Given the description of an element on the screen output the (x, y) to click on. 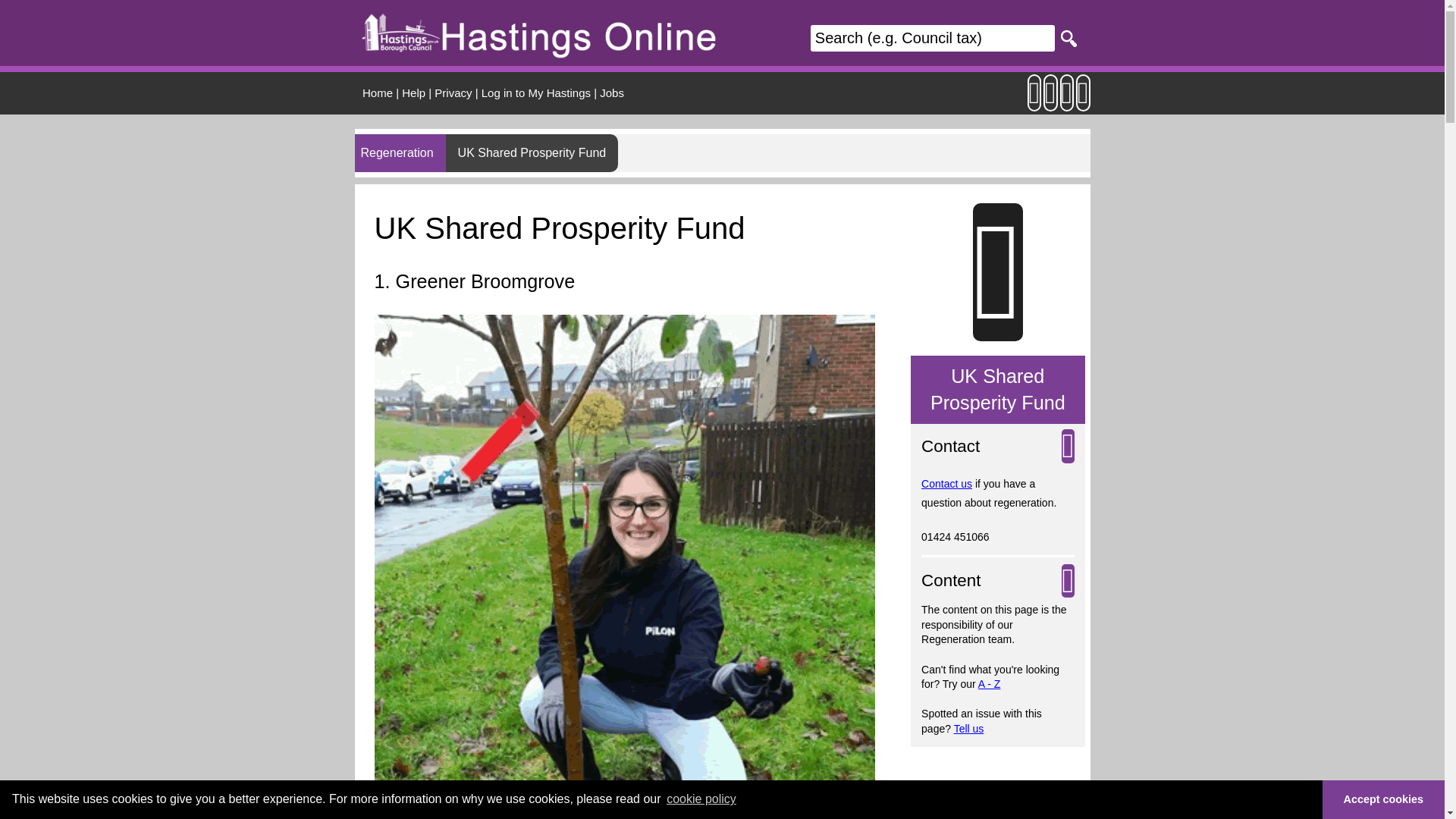
Help using Hastings Online (413, 92)
link to Newsletter (1034, 100)
Hastings Online logo (539, 32)
Privacy (452, 92)
Search this site (932, 38)
Jobs at Hastings Borough Council and other organisations (611, 92)
link to Hastings council facebook page (1082, 100)
Contact us (946, 483)
link to Hastings council twitter feed (1066, 100)
Log in to My Hastings (536, 92)
